Given the description of an element on the screen output the (x, y) to click on. 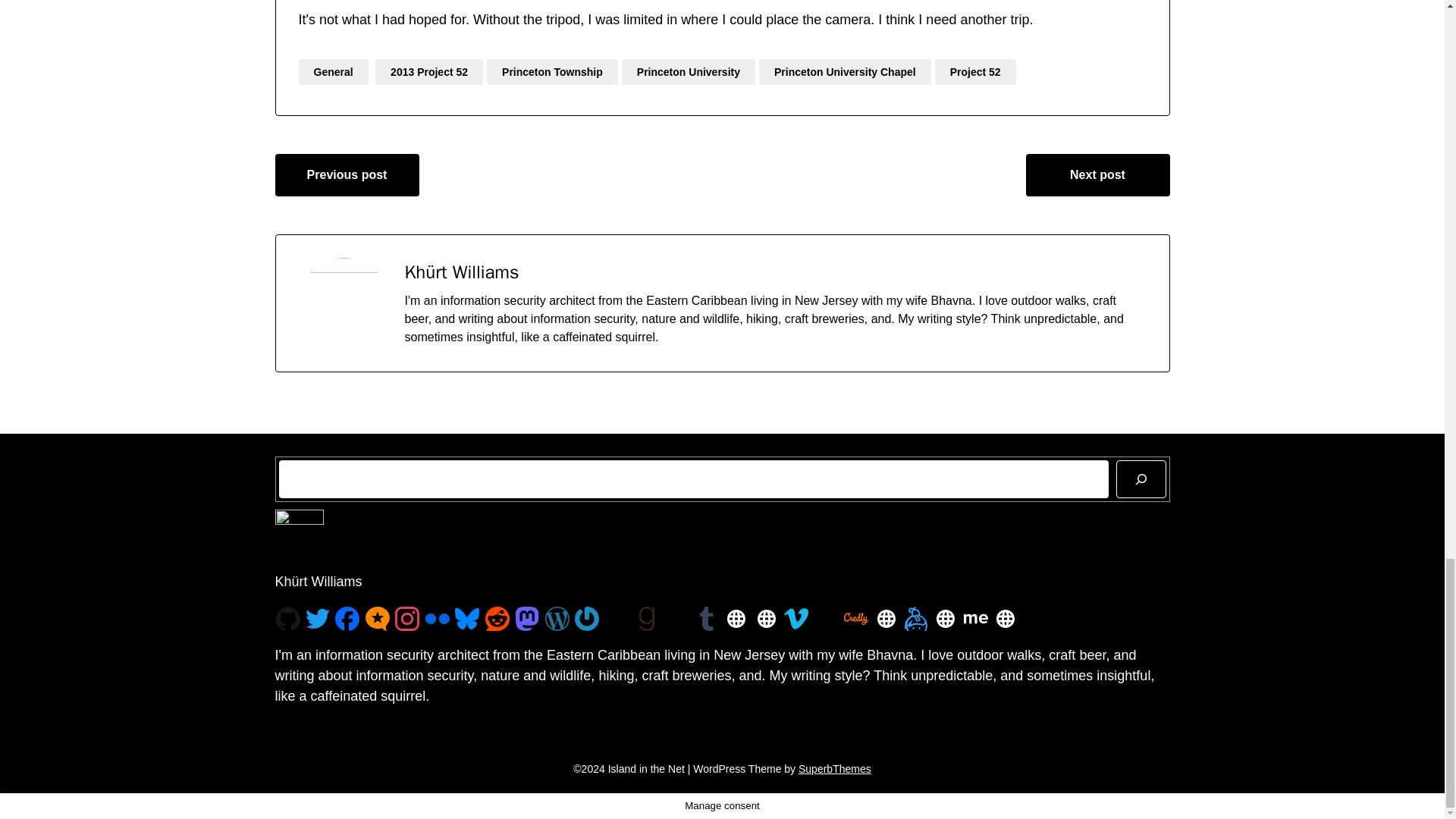
Unsplash (616, 618)
Bluesky (466, 618)
Tumblr (706, 618)
2013 Project 52 (429, 71)
Twitter (317, 617)
General (333, 71)
Instagram (406, 618)
Previous post (347, 174)
Vimeo (796, 618)
Gravatar (586, 618)
